Given the description of an element on the screen output the (x, y) to click on. 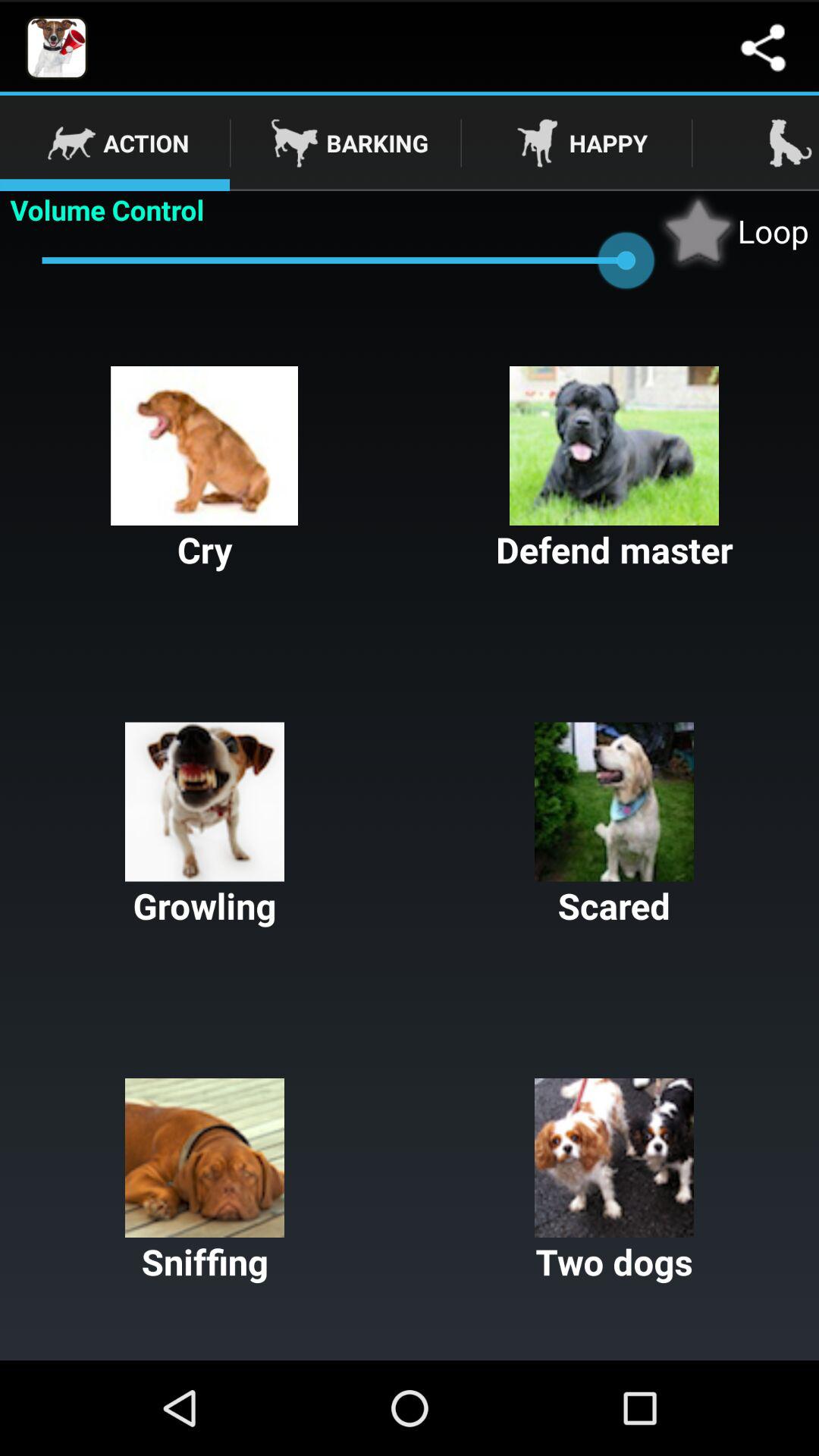
turn on icon below cry button (204, 825)
